Given the description of an element on the screen output the (x, y) to click on. 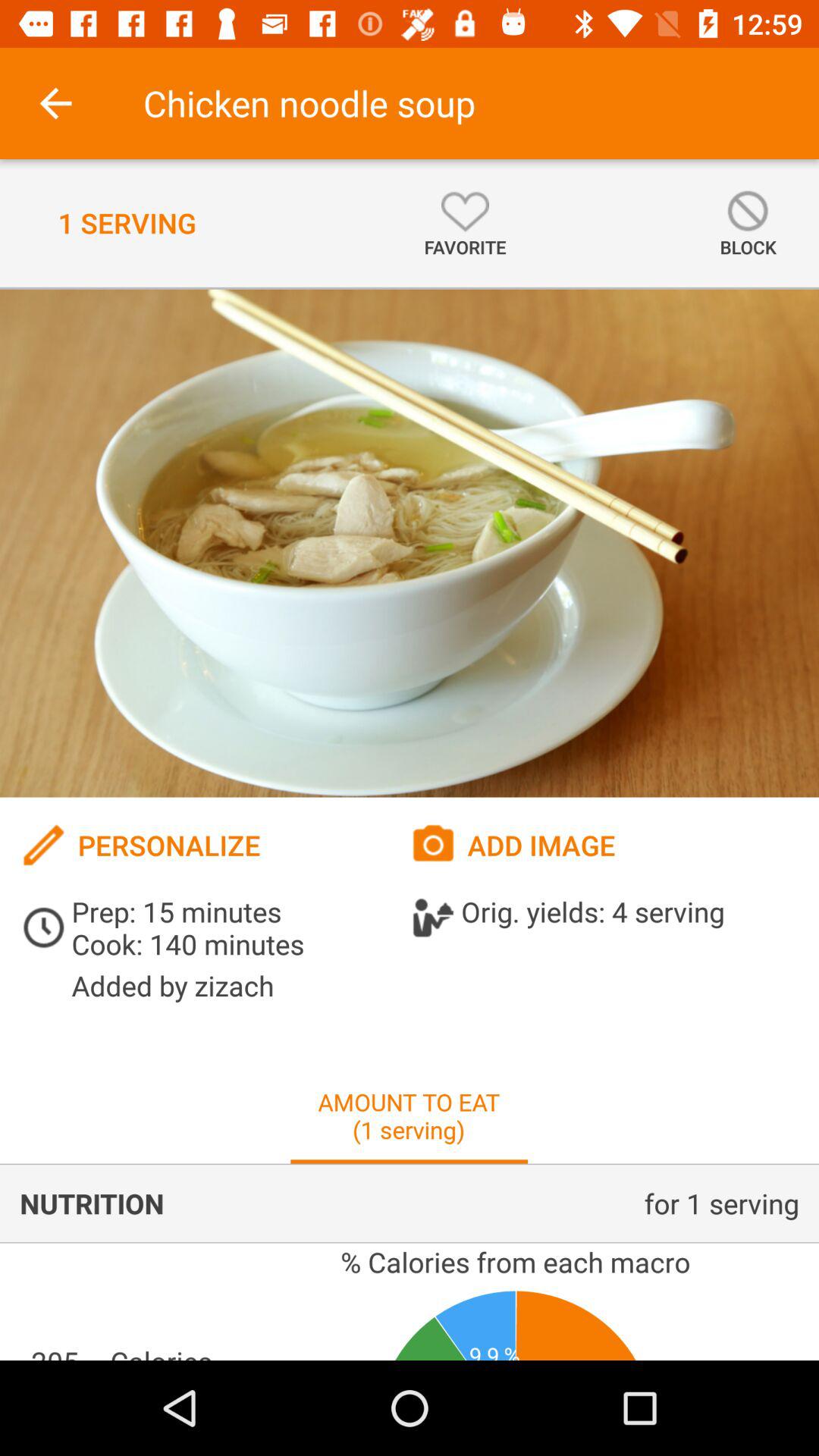
click the item to the left of the chicken noodle soup icon (55, 103)
